Given the description of an element on the screen output the (x, y) to click on. 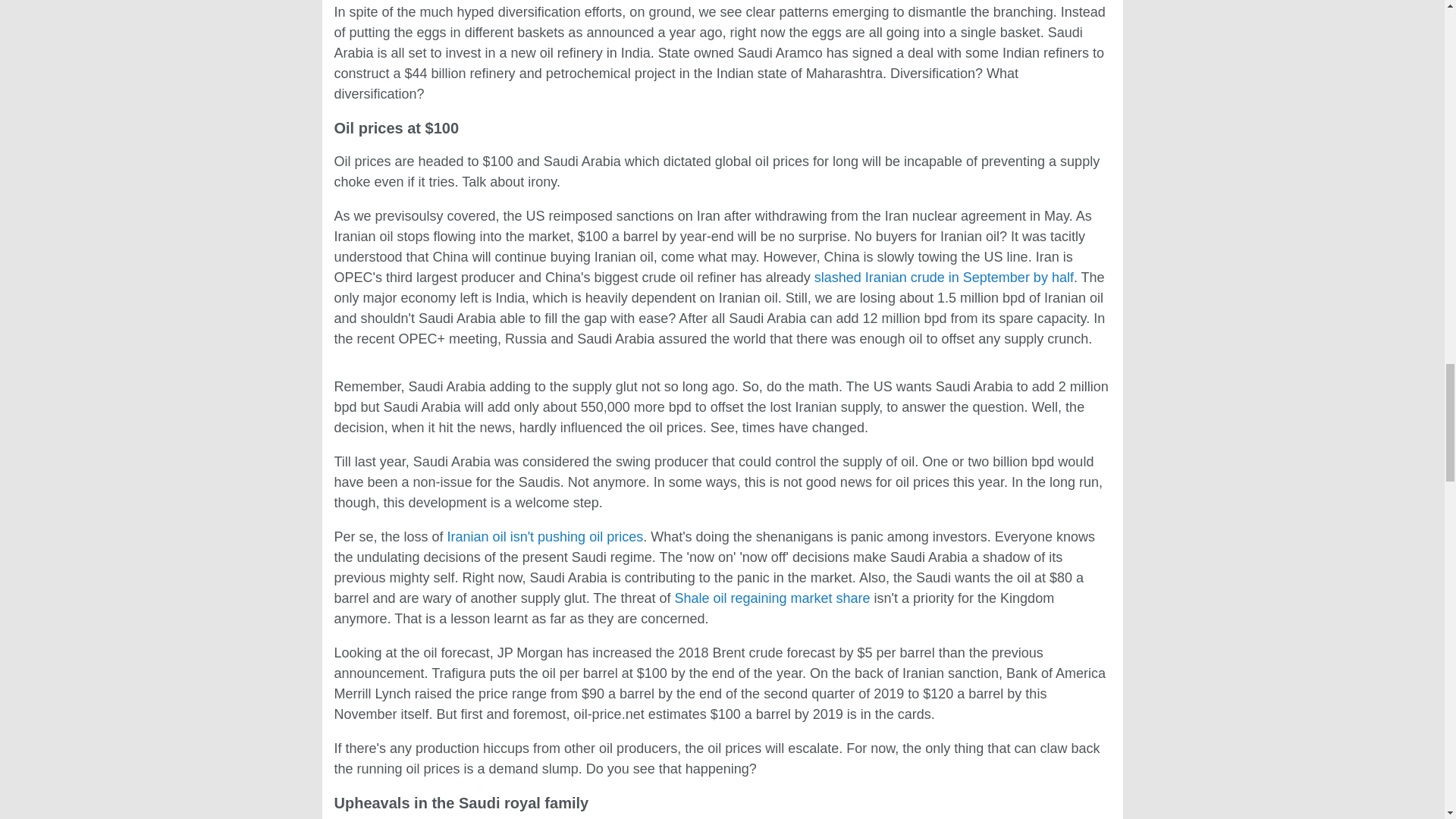
Shale oil regaining market share (771, 598)
slashed Iranian crude in September by half (943, 277)
Iranian oil isn't pushing oil prices (544, 536)
